Given the description of an element on the screen output the (x, y) to click on. 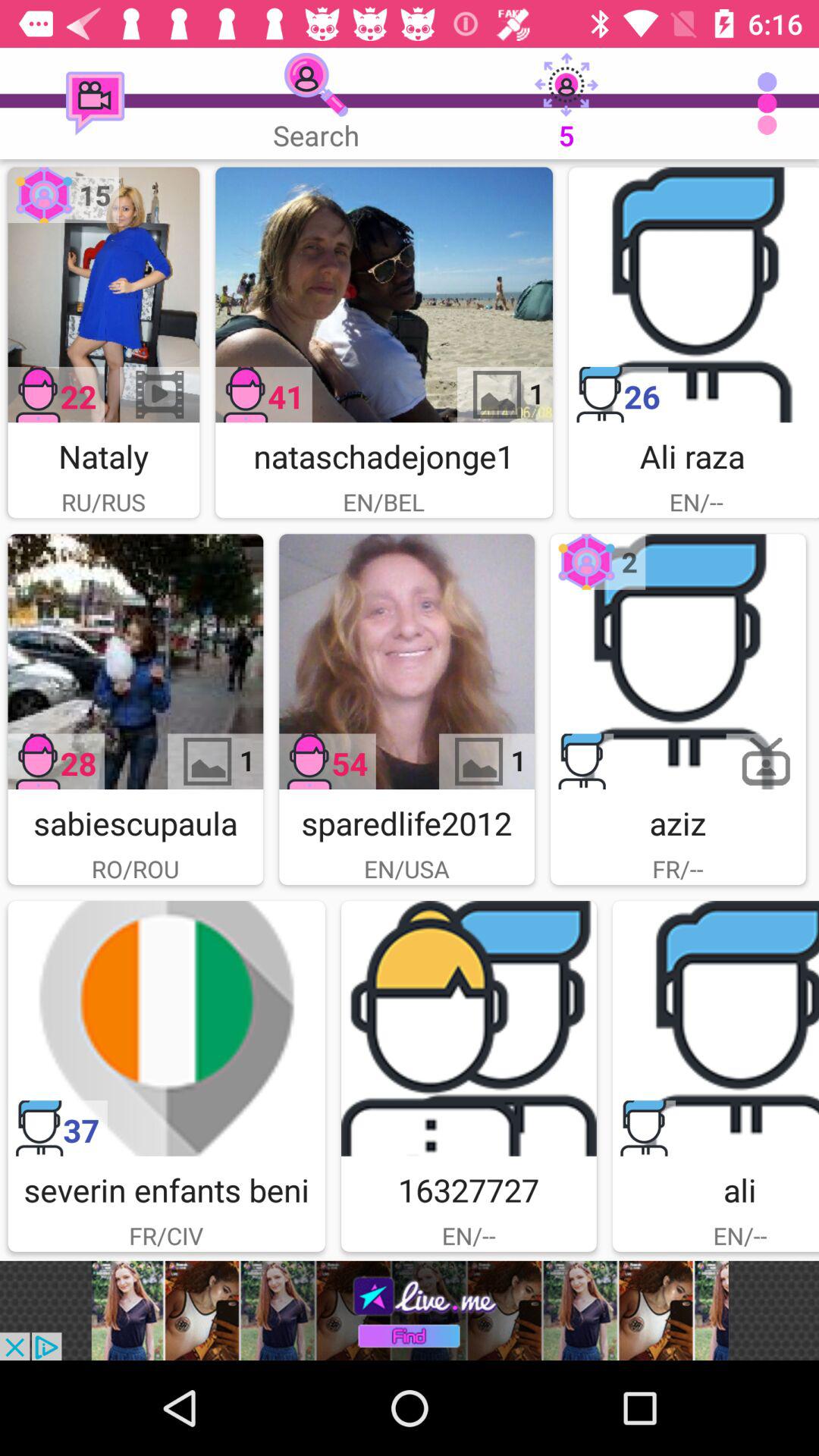
advertisement (166, 1028)
